Given the description of an element on the screen output the (x, y) to click on. 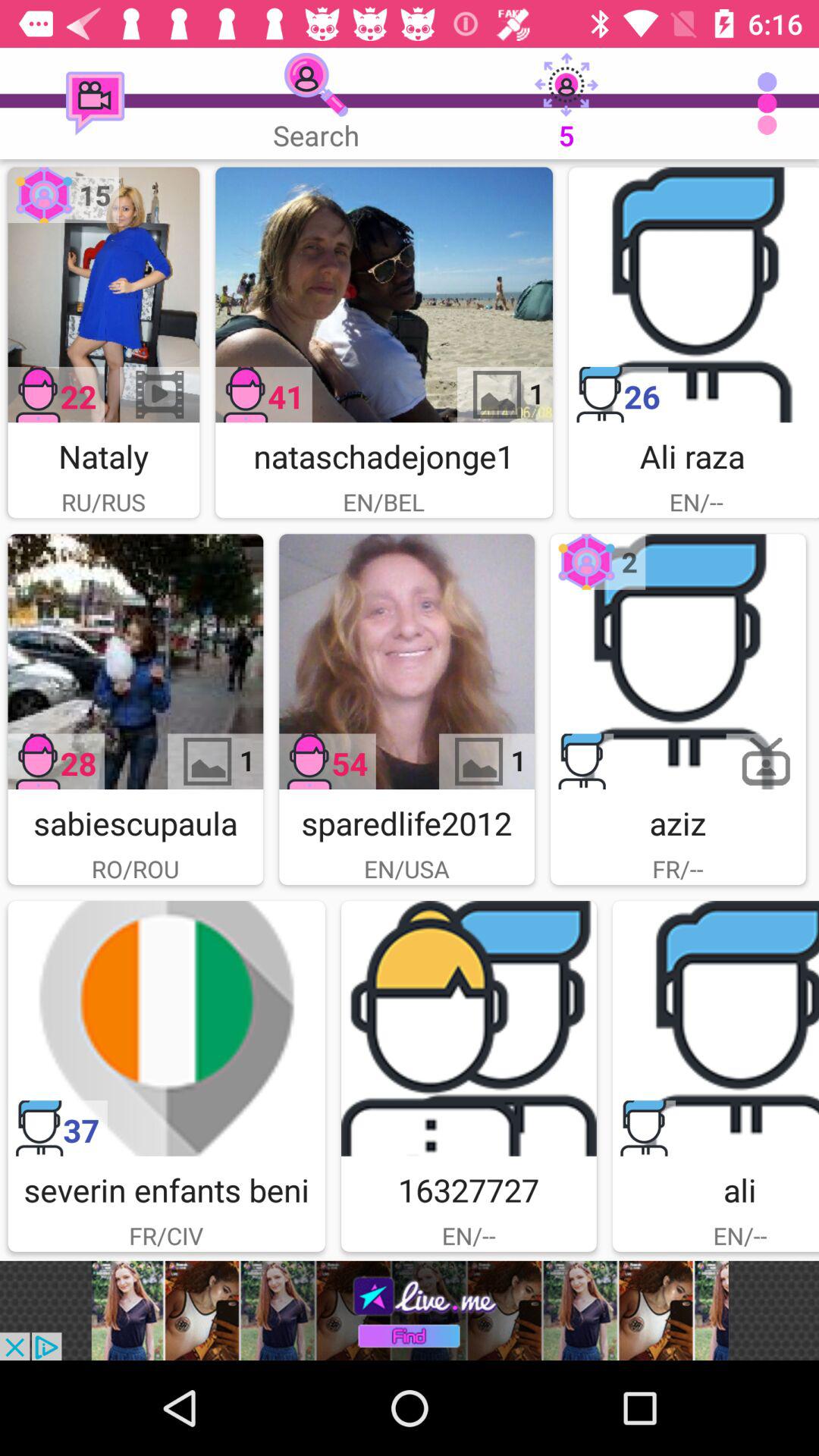
advertisement (166, 1028)
